Given the description of an element on the screen output the (x, y) to click on. 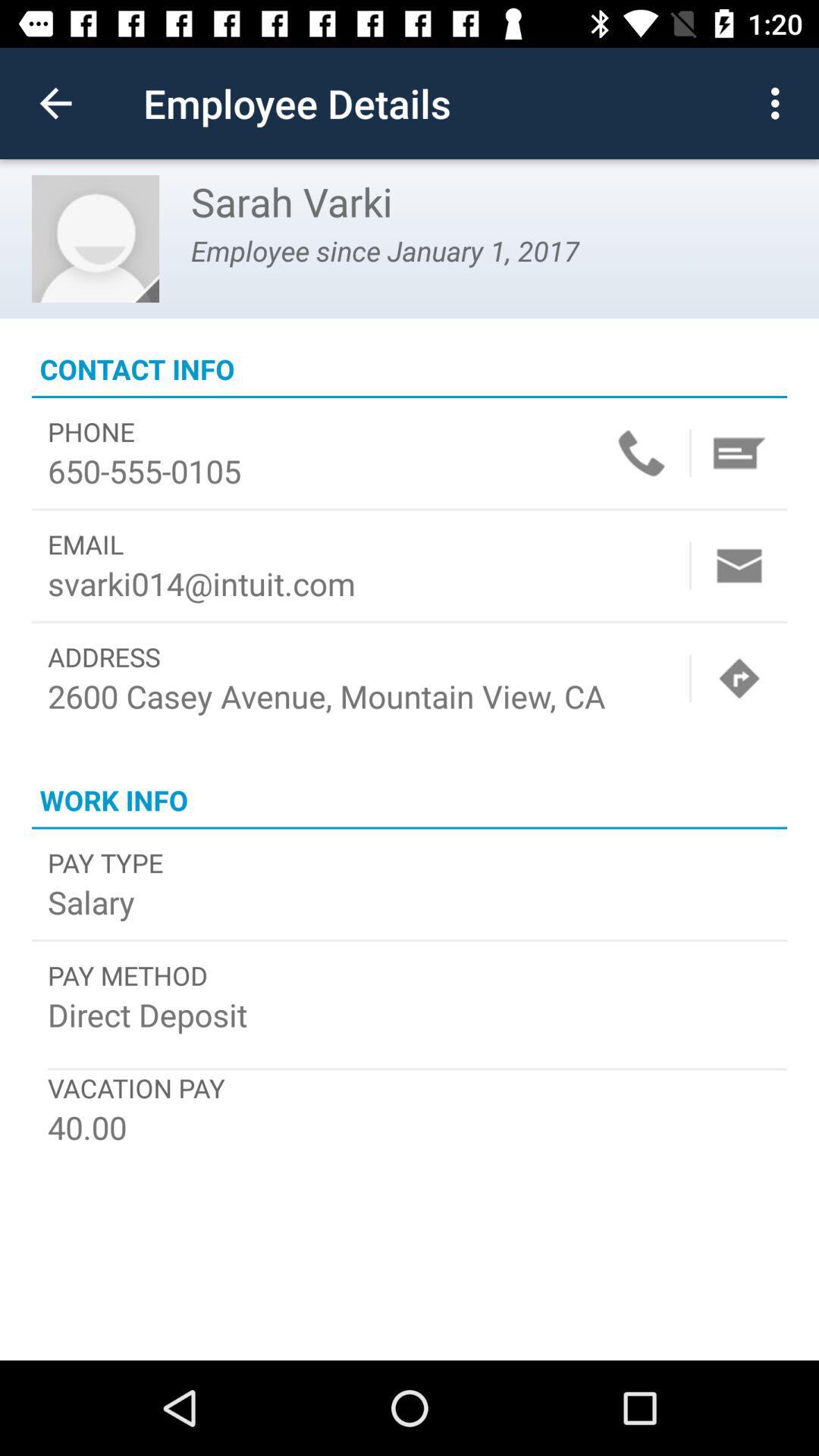
message option (739, 453)
